Given the description of an element on the screen output the (x, y) to click on. 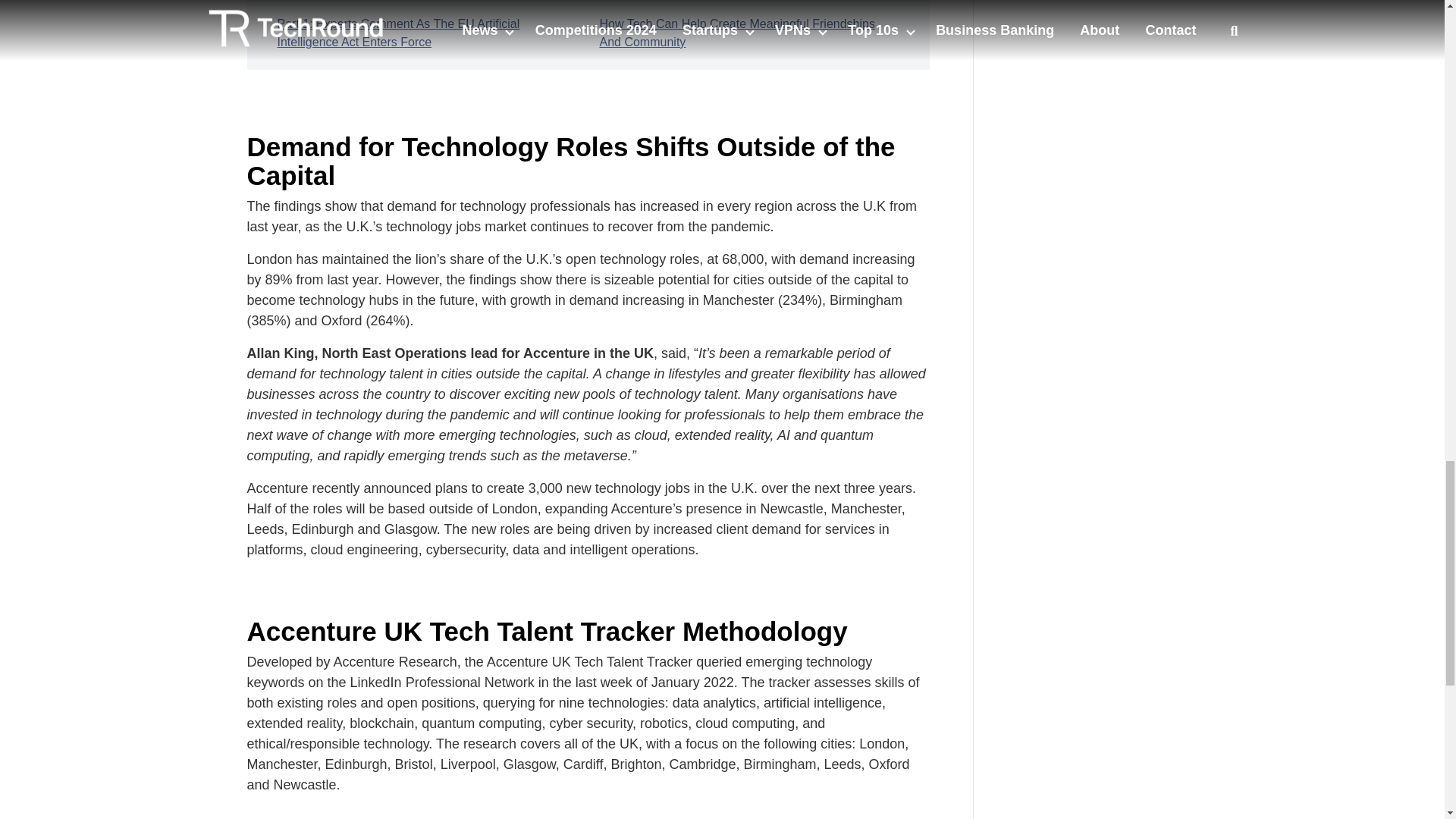
Enter The BAME Top 50 Entrepreneurs - Deadline 10th Nov 2021 (1107, 17)
